Given the description of an element on the screen output the (x, y) to click on. 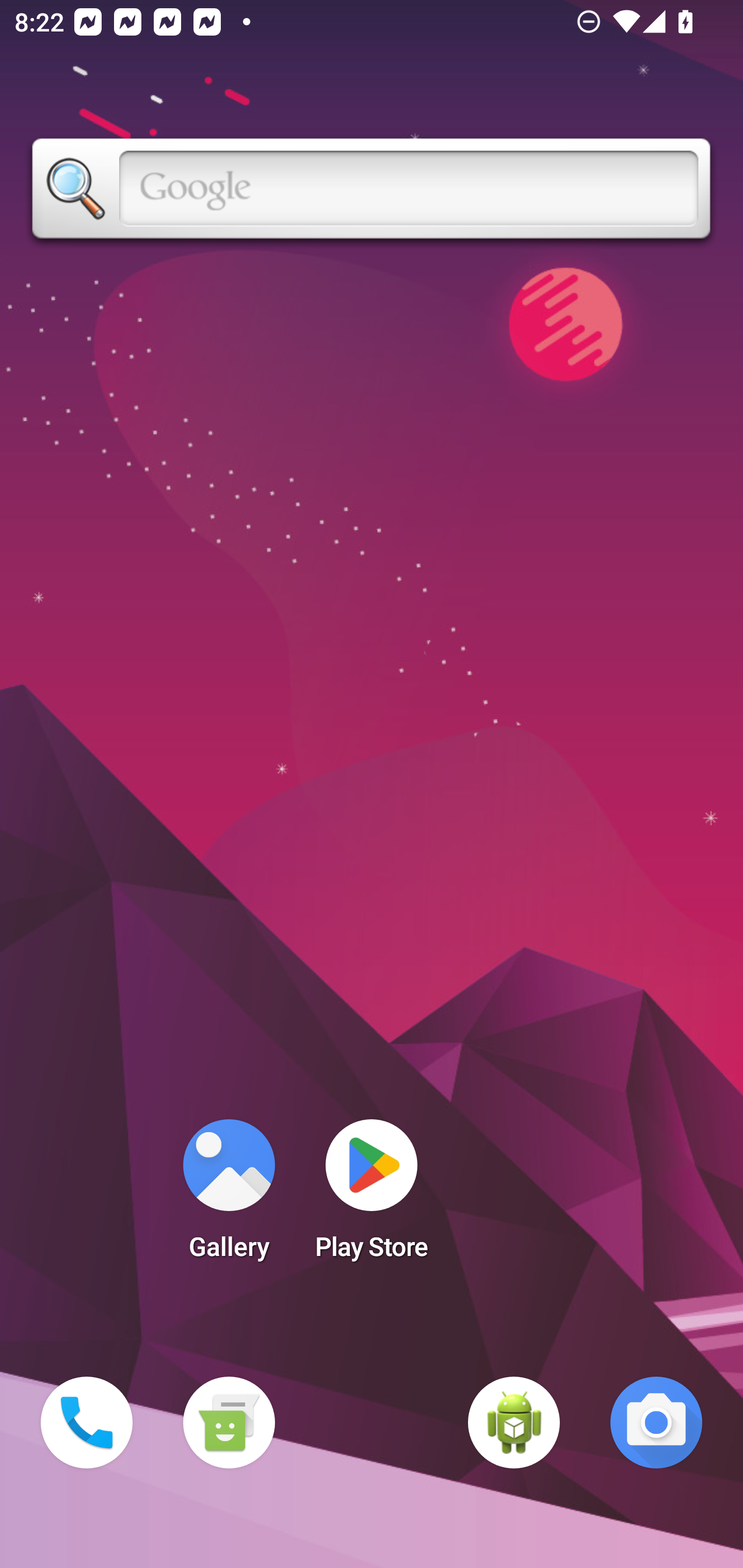
Gallery (228, 1195)
Play Store (371, 1195)
Phone (86, 1422)
Messaging (228, 1422)
WebView Browser Tester (513, 1422)
Camera (656, 1422)
